Given the description of an element on the screen output the (x, y) to click on. 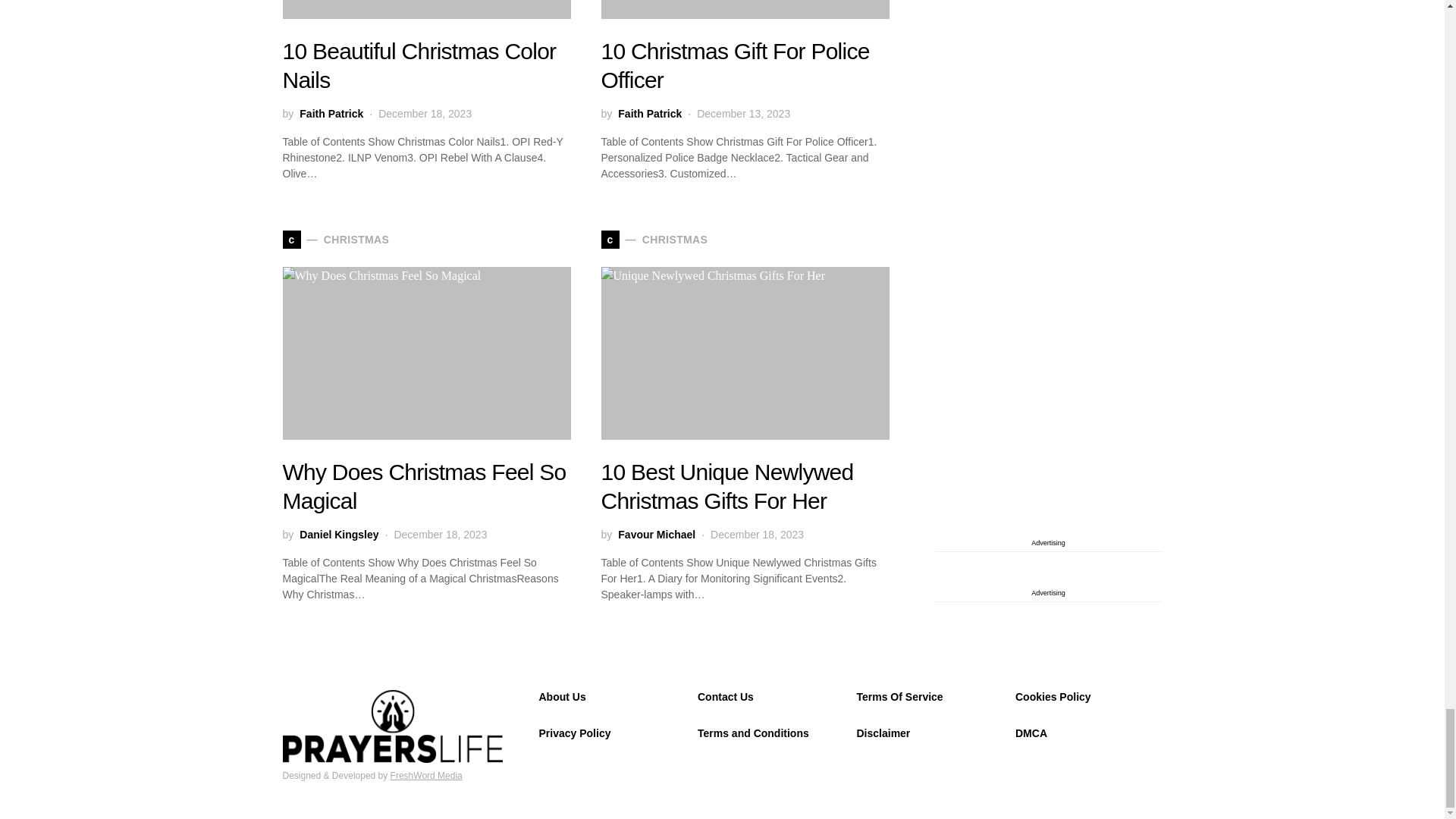
10 Christmas Gift For Police Officer 61 (743, 9)
Why Does Christmas Feel So Magical 82 (426, 352)
10 Beautiful Christmas Color Nails 40 (426, 9)
View all posts by Faith Patrick (330, 114)
View all posts by Daniel Kingsley (338, 534)
10 Best Unique Newlywed Christmas Gifts For Her 83 (743, 352)
View all posts by Faith Patrick (649, 114)
